Given the description of an element on the screen output the (x, y) to click on. 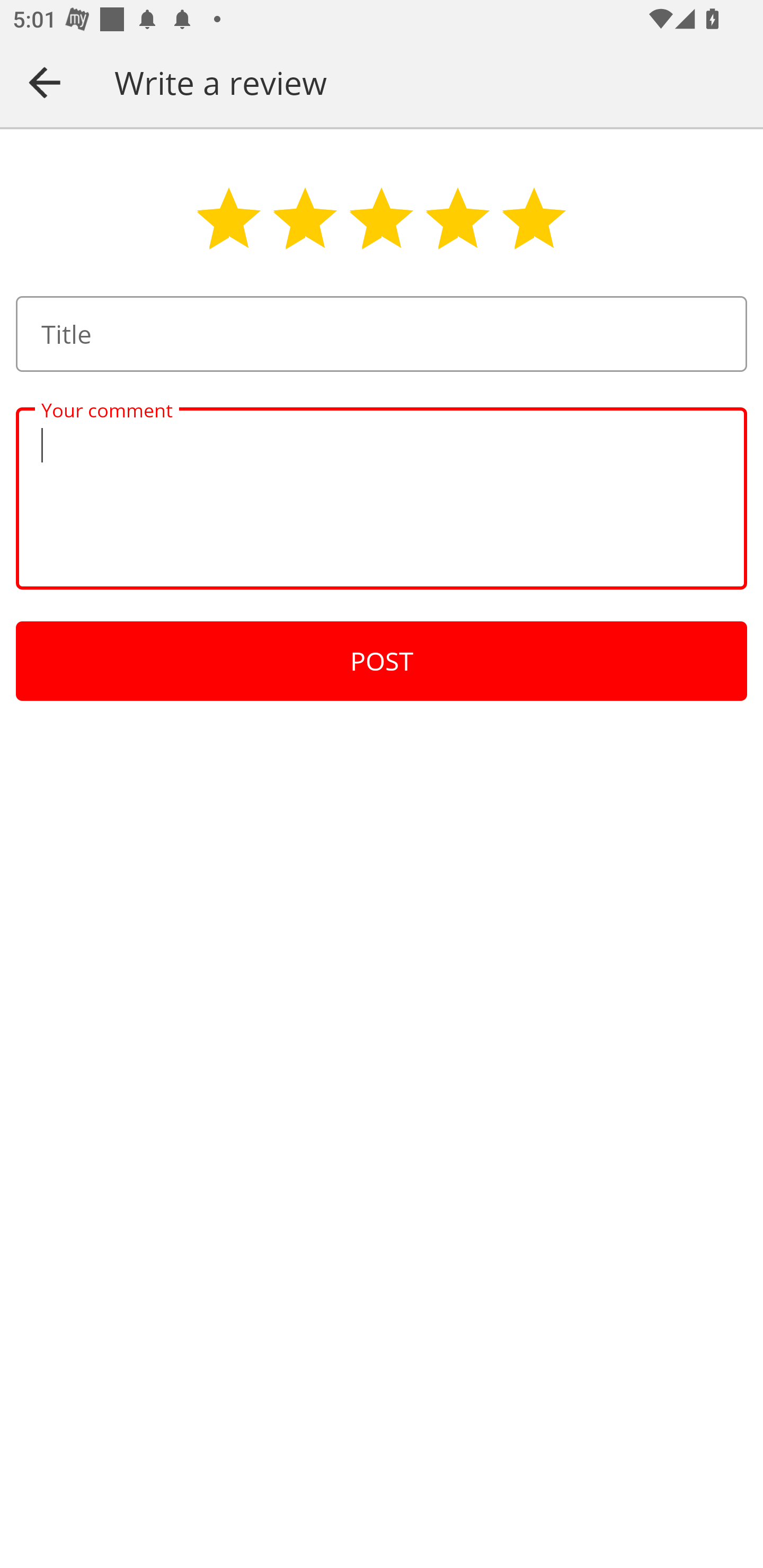
Navigate up (44, 82)
Title (381, 333)
Your comment (381, 498)
POST (381, 660)
